Given the description of an element on the screen output the (x, y) to click on. 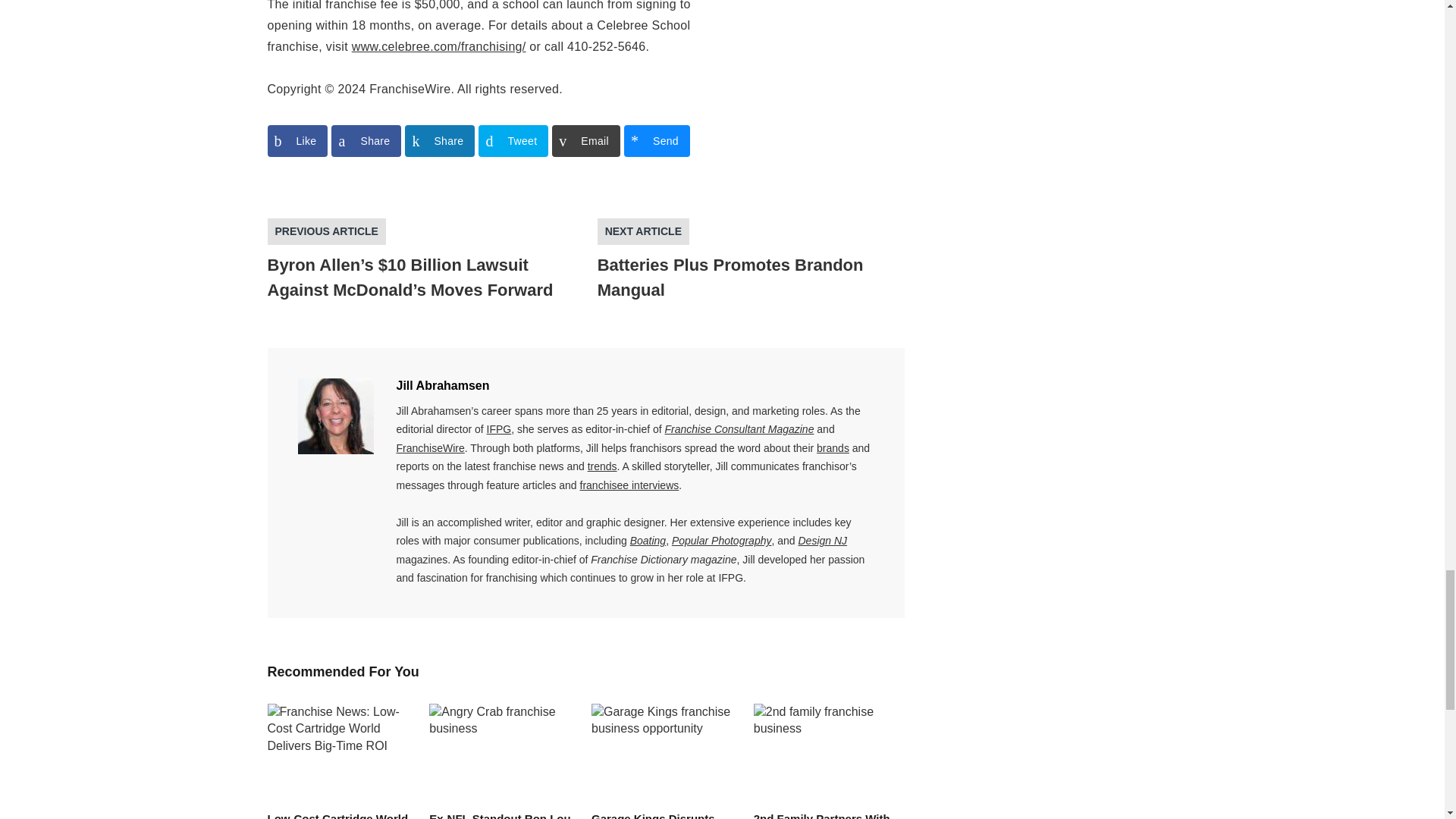
Share on Share (439, 141)
Share on Share (366, 141)
Share on Like (296, 141)
Share on Tweet (513, 141)
Share on Email (585, 141)
View all posts by Jill Abrahamsen (442, 385)
Share on Send (657, 141)
